Given the description of an element on the screen output the (x, y) to click on. 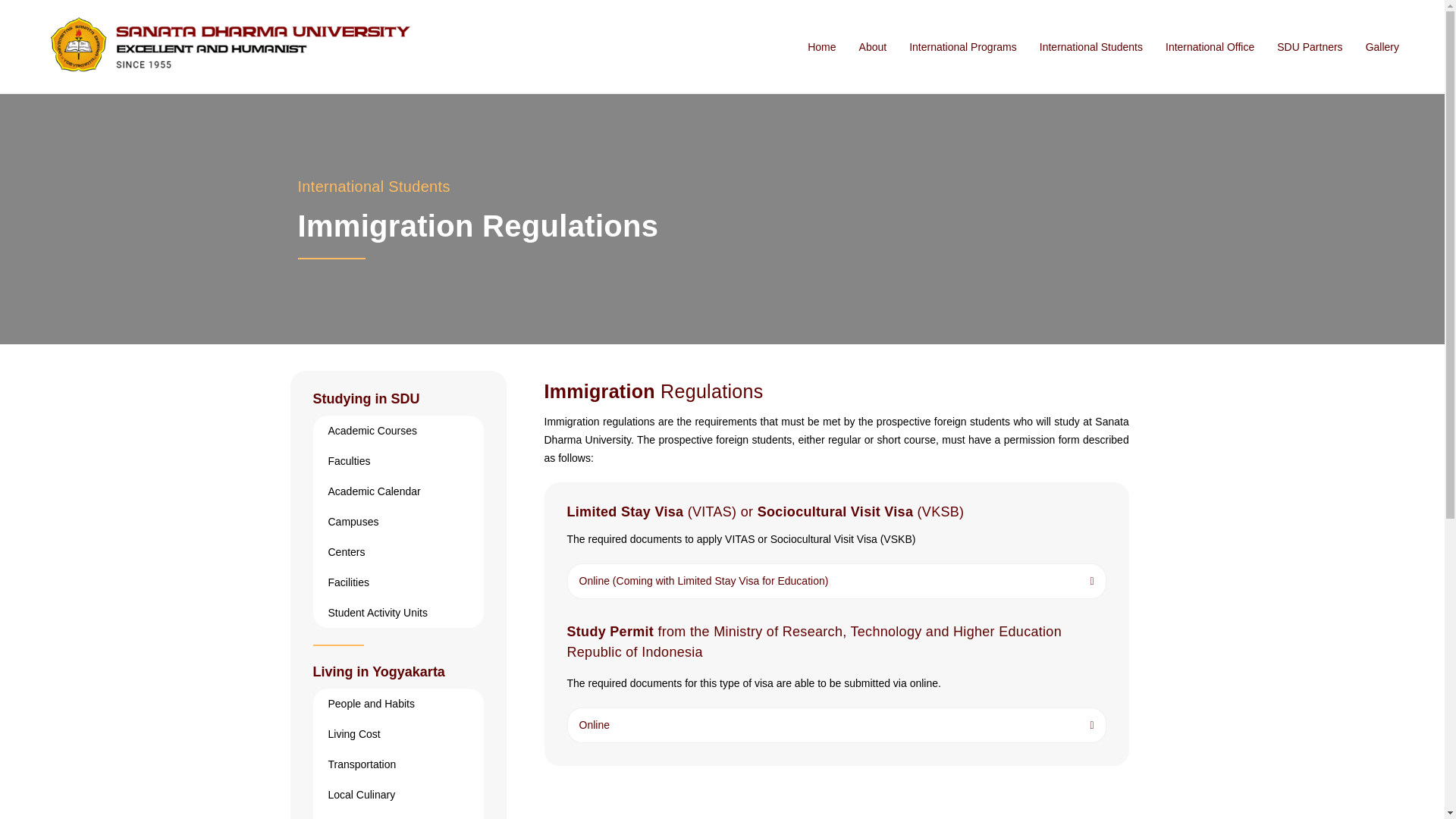
International Students (564, 186)
Centers (380, 552)
International Programs (963, 40)
Academic Calendar (373, 490)
SDU Partners (1309, 41)
Gallery (1382, 41)
Home (821, 39)
Student Activity Units (386, 612)
International Office (1209, 40)
About (873, 40)
